Given the description of an element on the screen output the (x, y) to click on. 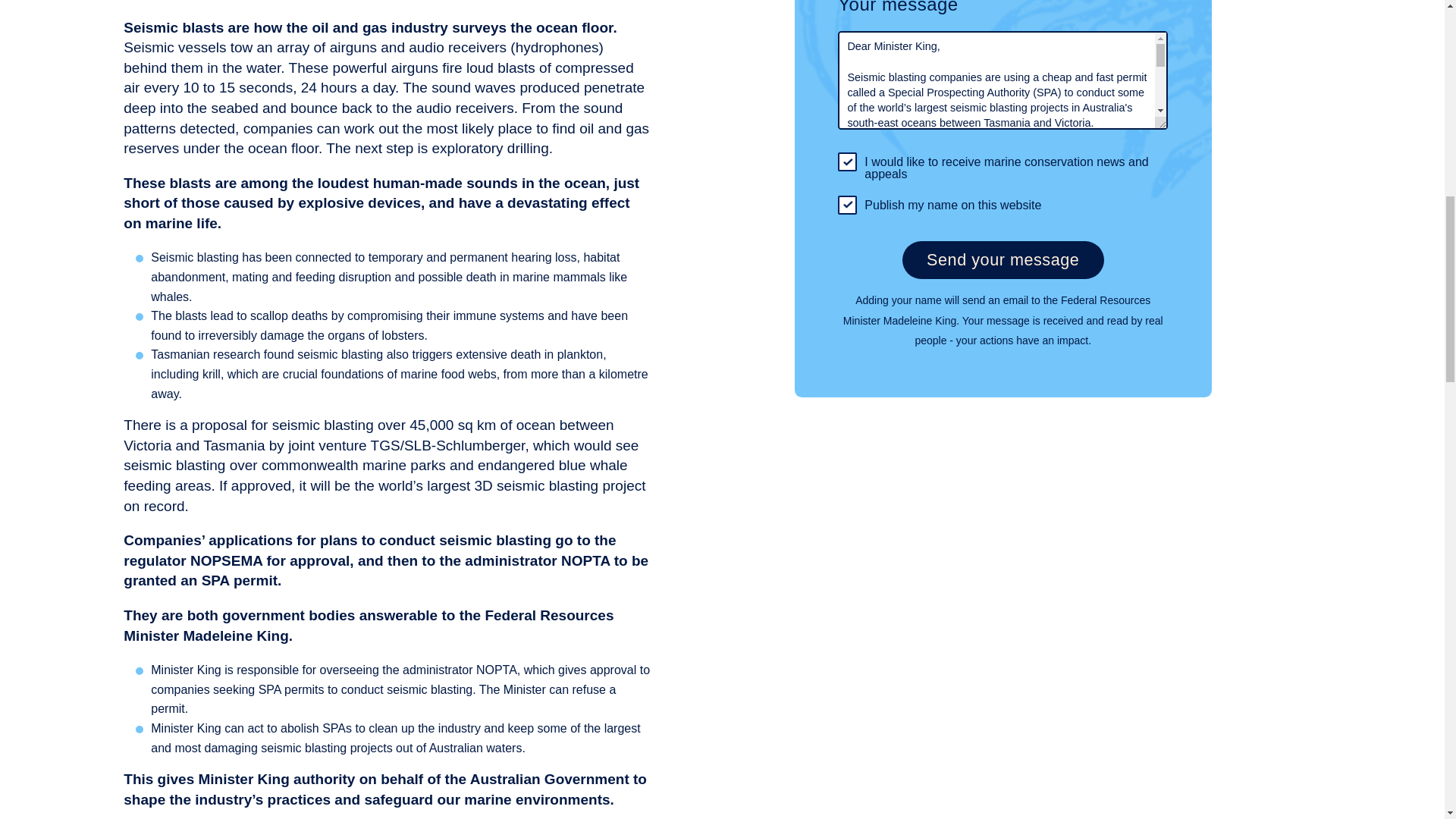
on (847, 161)
on (847, 204)
